Given the description of an element on the screen output the (x, y) to click on. 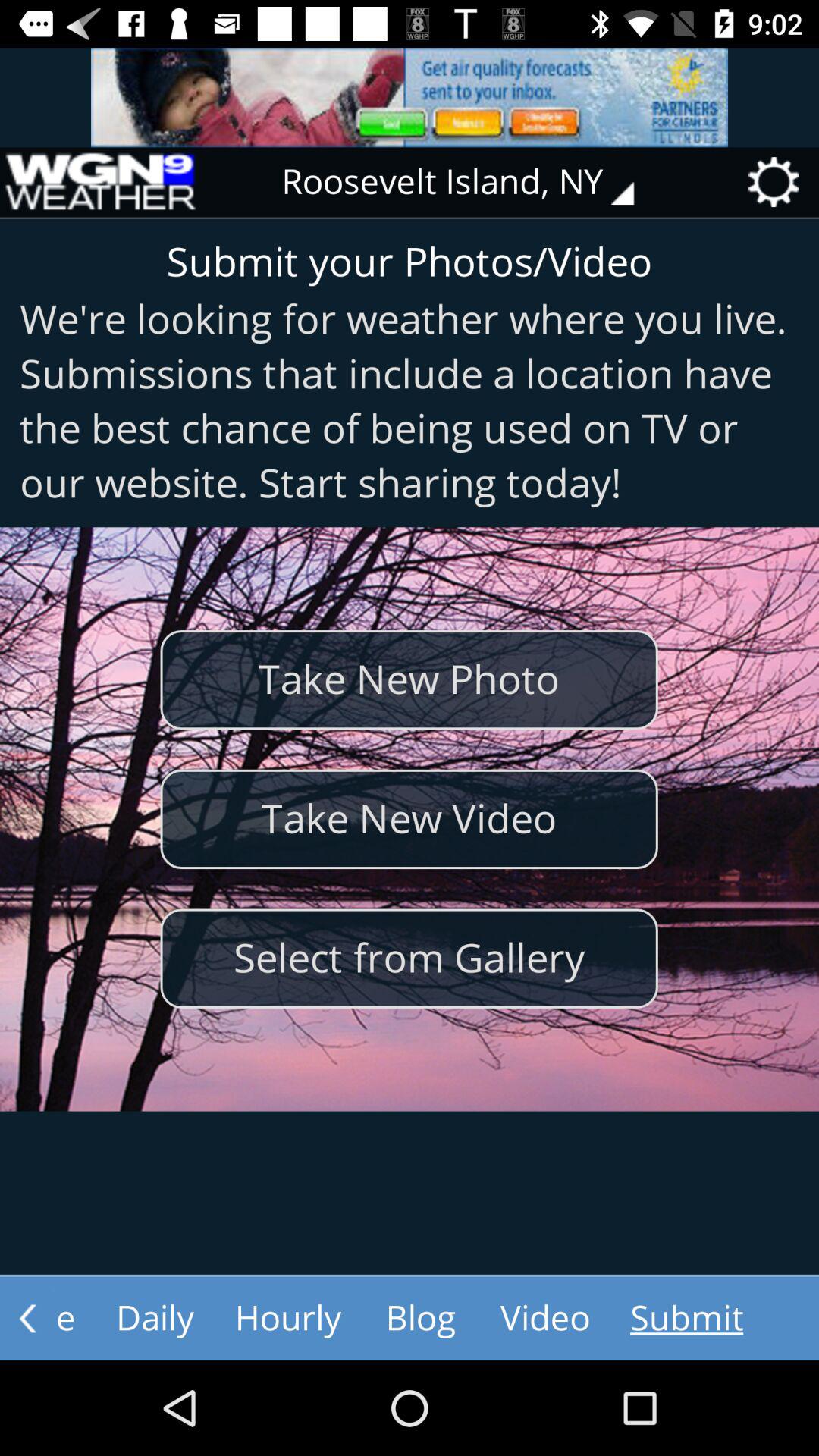
turn off item next to roosevelt island, ny item (99, 182)
